Given the description of an element on the screen output the (x, y) to click on. 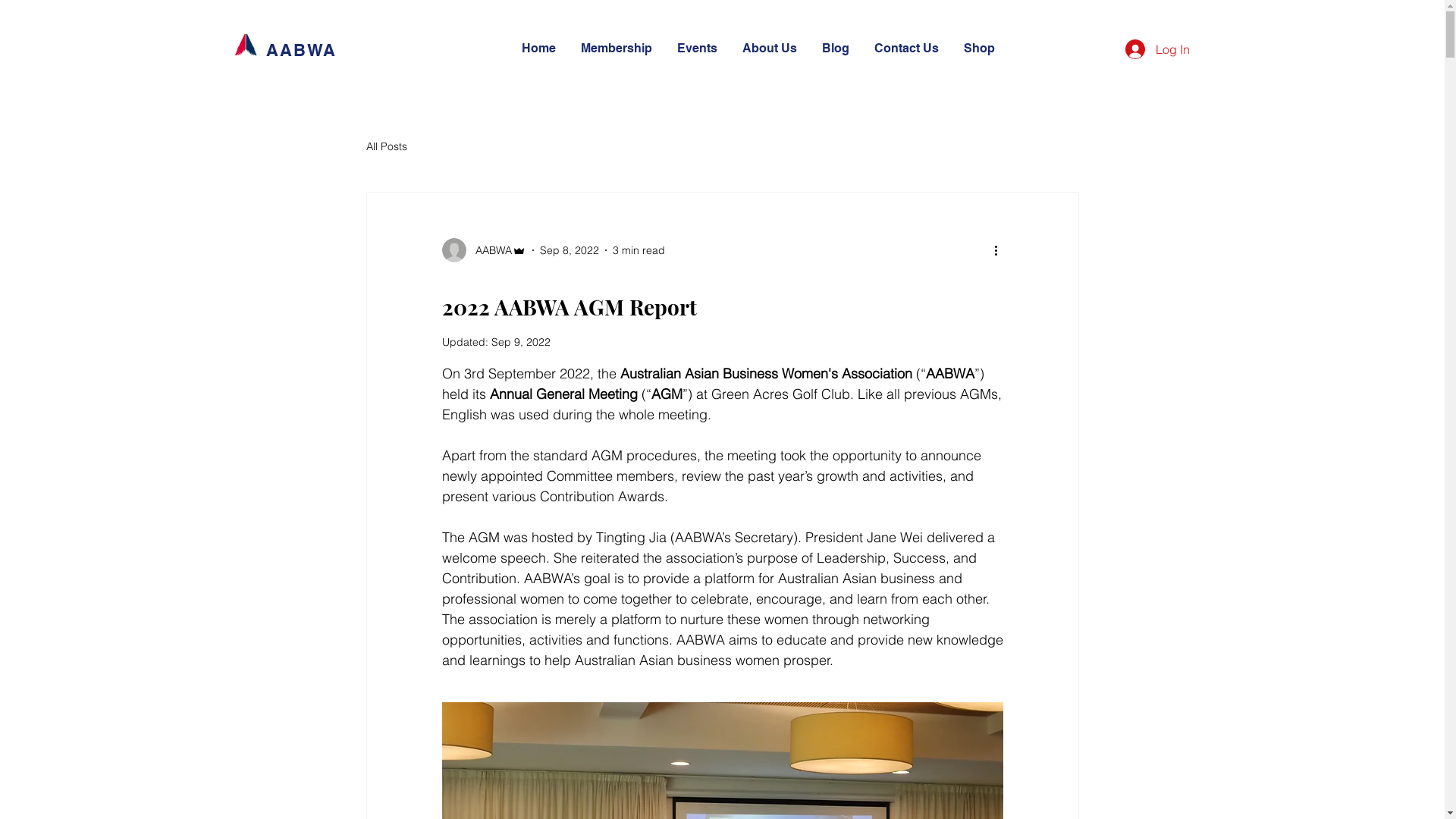
Log In Element type: text (1157, 48)
About Us Element type: text (770, 48)
All Posts Element type: text (385, 146)
Events Element type: text (698, 48)
Membership Element type: text (616, 48)
Blog Element type: text (835, 48)
Shop Element type: text (979, 48)
Home Element type: text (538, 48)
AABWA Element type: text (483, 250)
Contact Us Element type: text (907, 48)
